Given the description of an element on the screen output the (x, y) to click on. 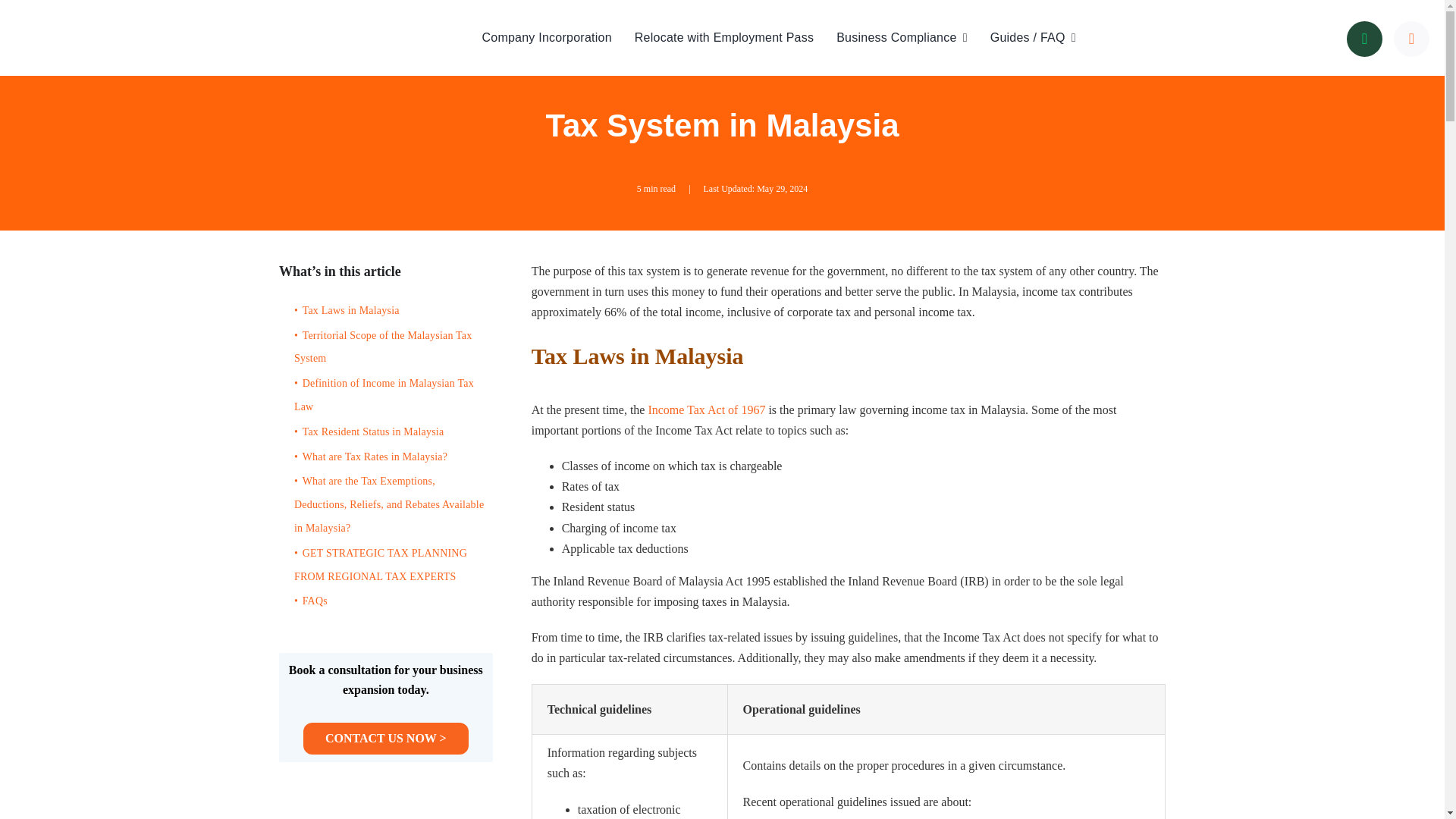
FAQs (389, 601)
GET STRATEGIC TAX PLANNING FROM REGIONAL TAX EXPERTS (389, 565)
Relocate with Employment Pass (723, 37)
Relocate with Employment Pass (723, 37)
Definition of Income in Malaysian Tax Law (389, 395)
Business Compliance (901, 37)
What are Tax Rates in Malaysia? (389, 457)
Business Compliance (901, 37)
Income Tax Act of 1967 (706, 409)
